Given the description of an element on the screen output the (x, y) to click on. 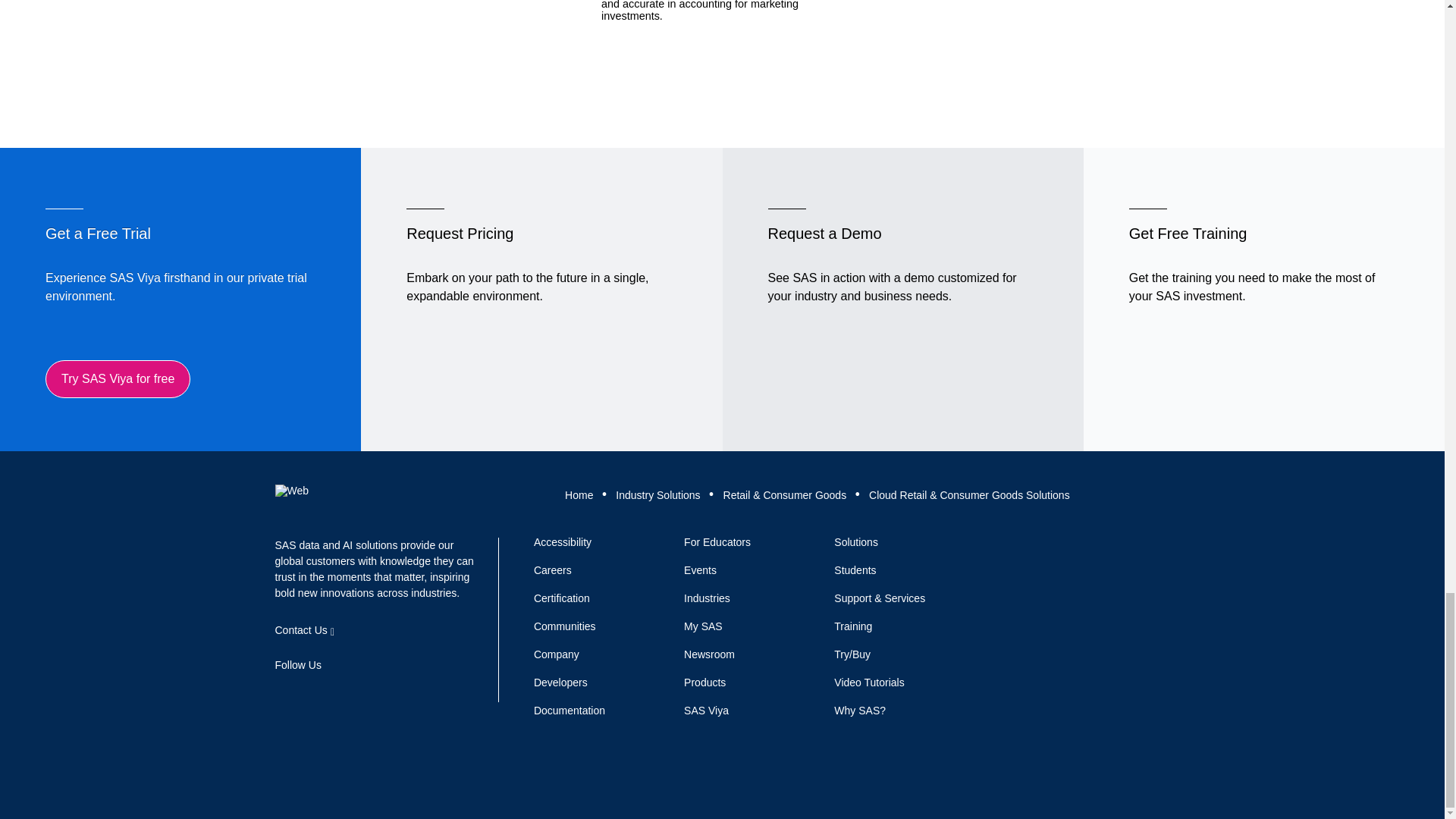
Web (291, 490)
